Given the description of an element on the screen output the (x, y) to click on. 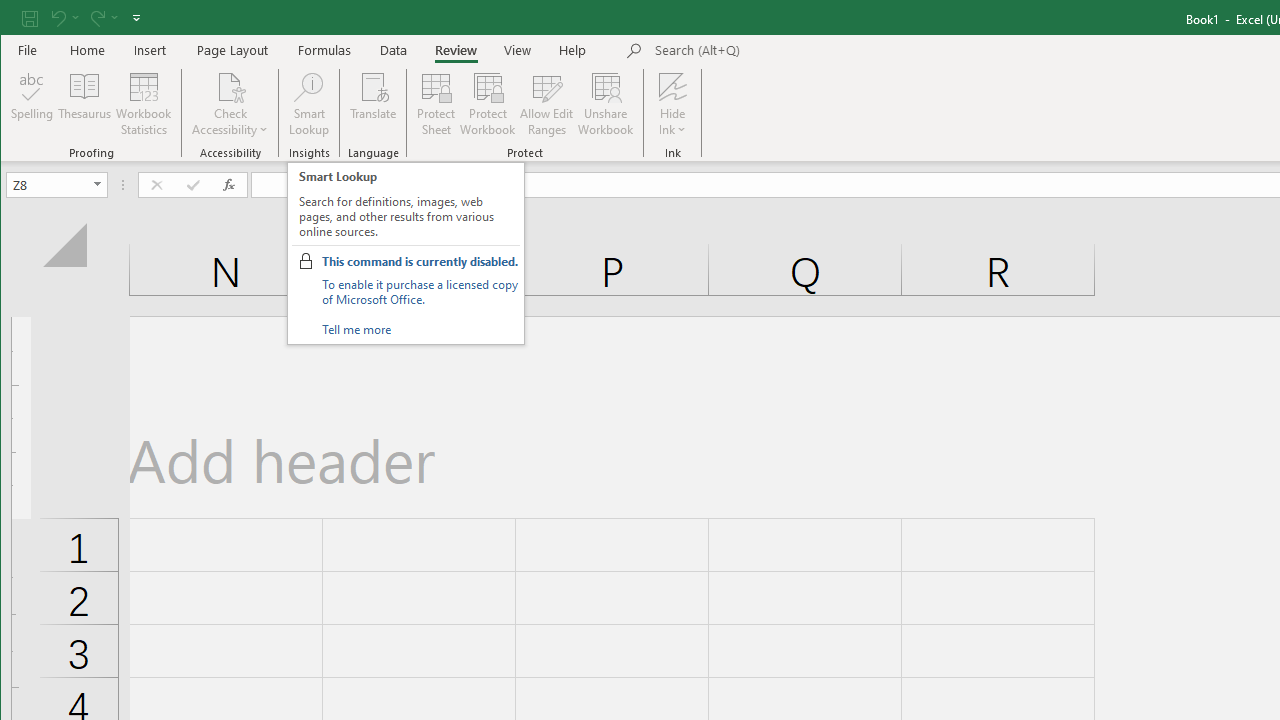
Hide Ink (672, 86)
